Given the description of an element on the screen output the (x, y) to click on. 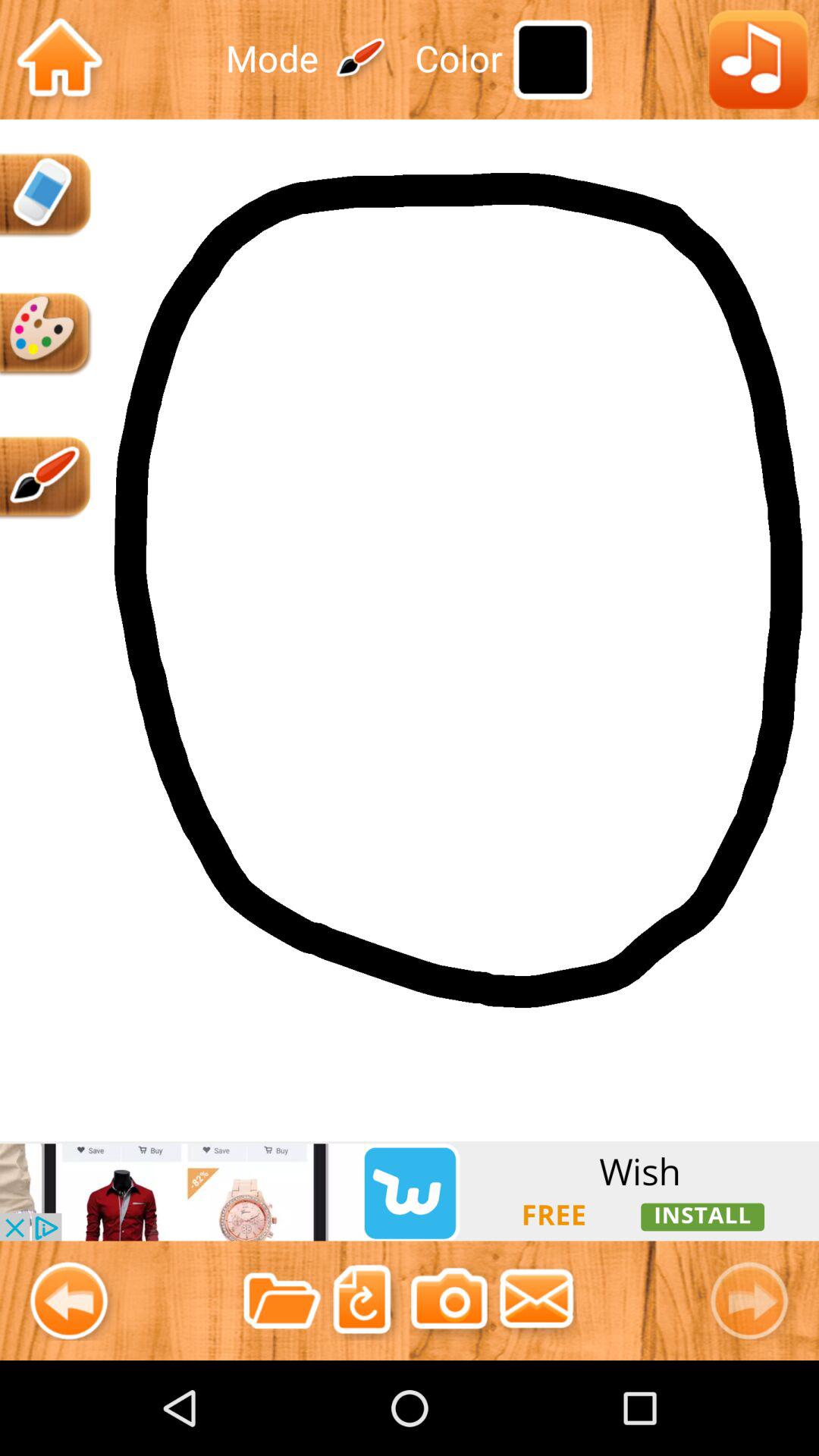
go to homepage (59, 59)
